Given the description of an element on the screen output the (x, y) to click on. 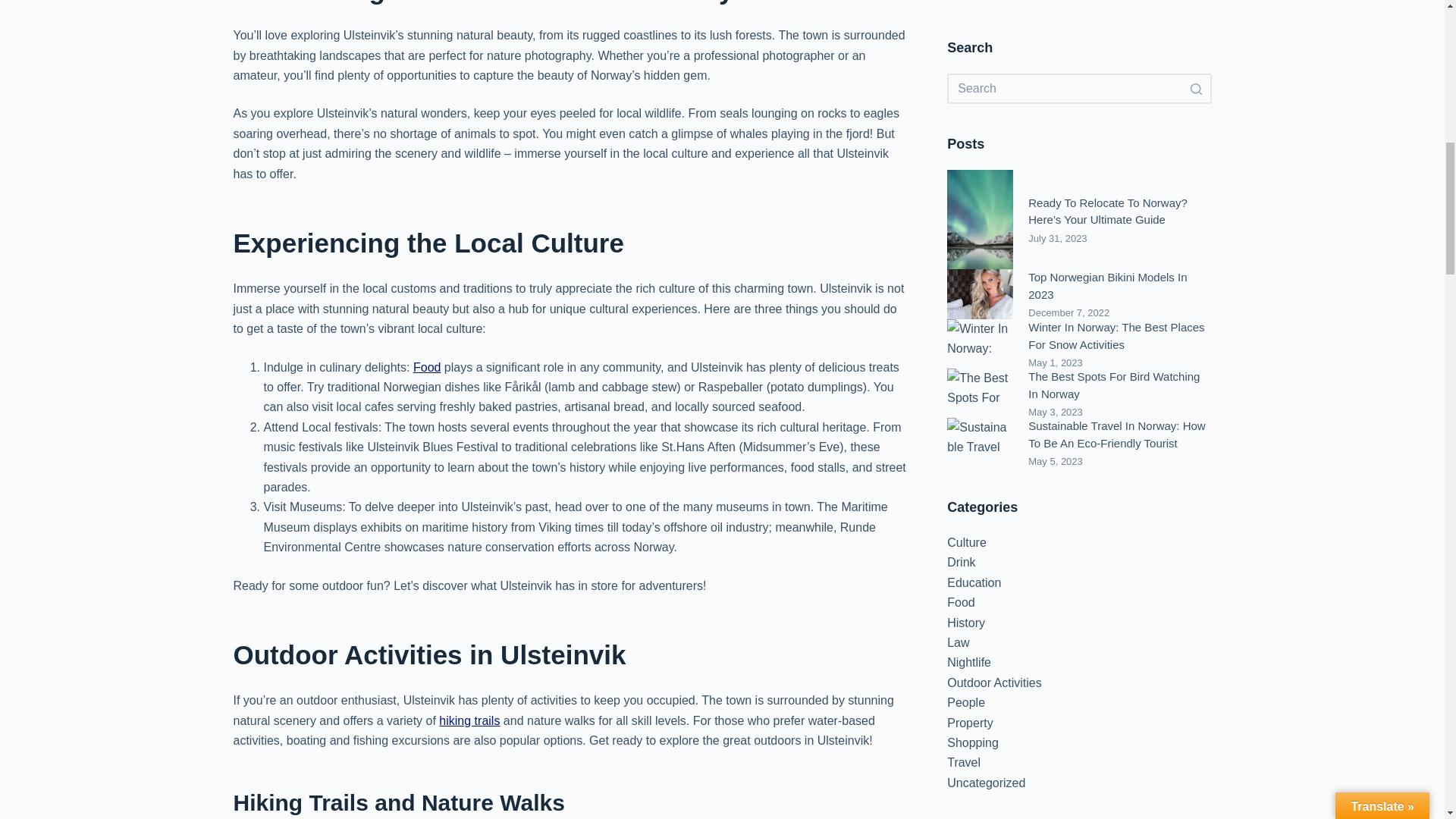
Food (427, 367)
hiking trails (469, 720)
Hiking In Norway: Top Trails For Every Skill Level (469, 720)
